Given the description of an element on the screen output the (x, y) to click on. 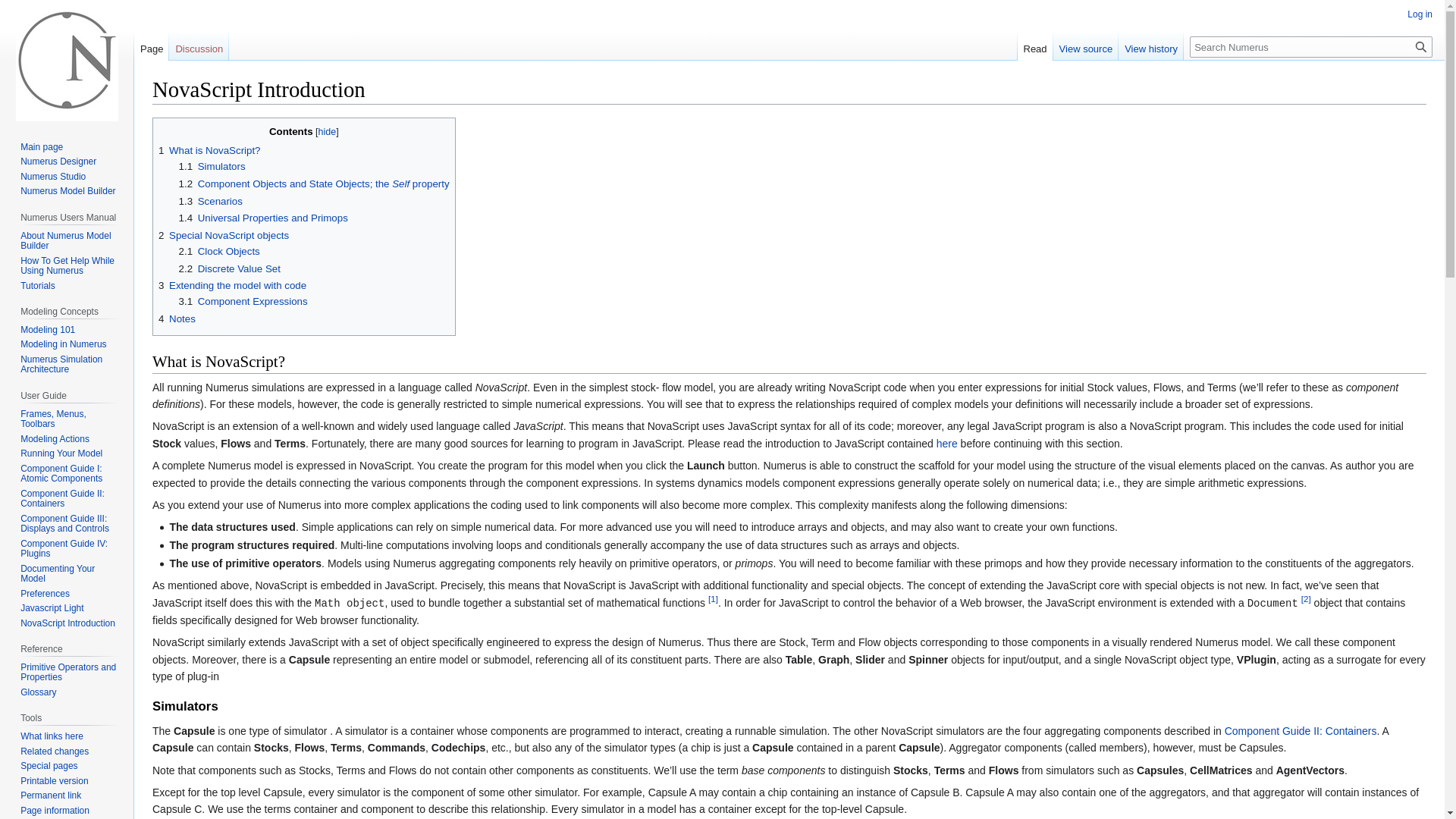
Go (1420, 46)
1 What is NovaScript? (209, 150)
2.1 Clock Objects (219, 251)
3 Extending the model with code (231, 285)
3.1 Component Expressions (243, 301)
Component Guide II: Containers (1300, 730)
Javascript Light (947, 443)
Search (1420, 46)
Search (1420, 46)
